Given the description of an element on the screen output the (x, y) to click on. 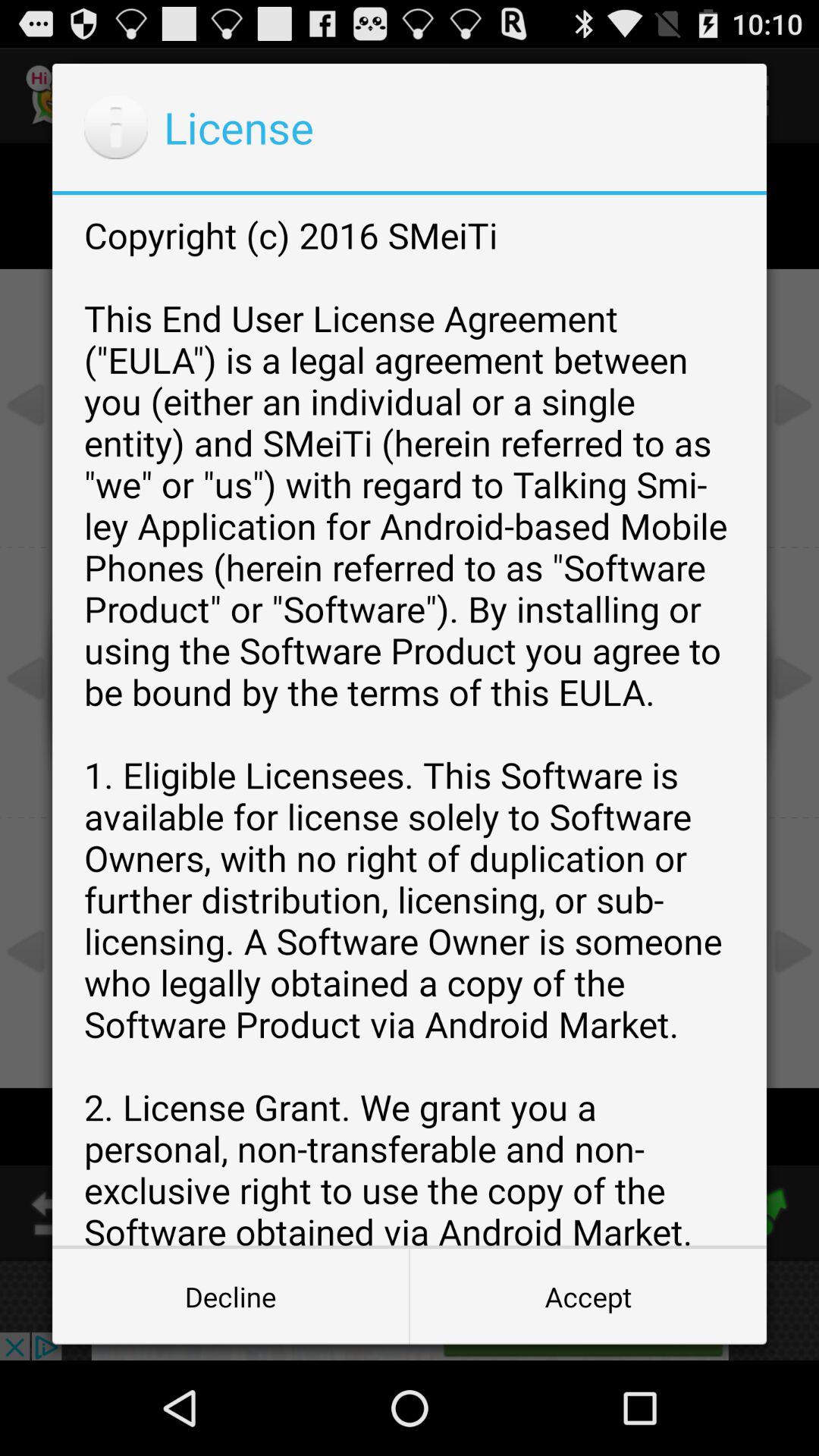
tap item below the copyright c 2016 icon (588, 1296)
